Given the description of an element on the screen output the (x, y) to click on. 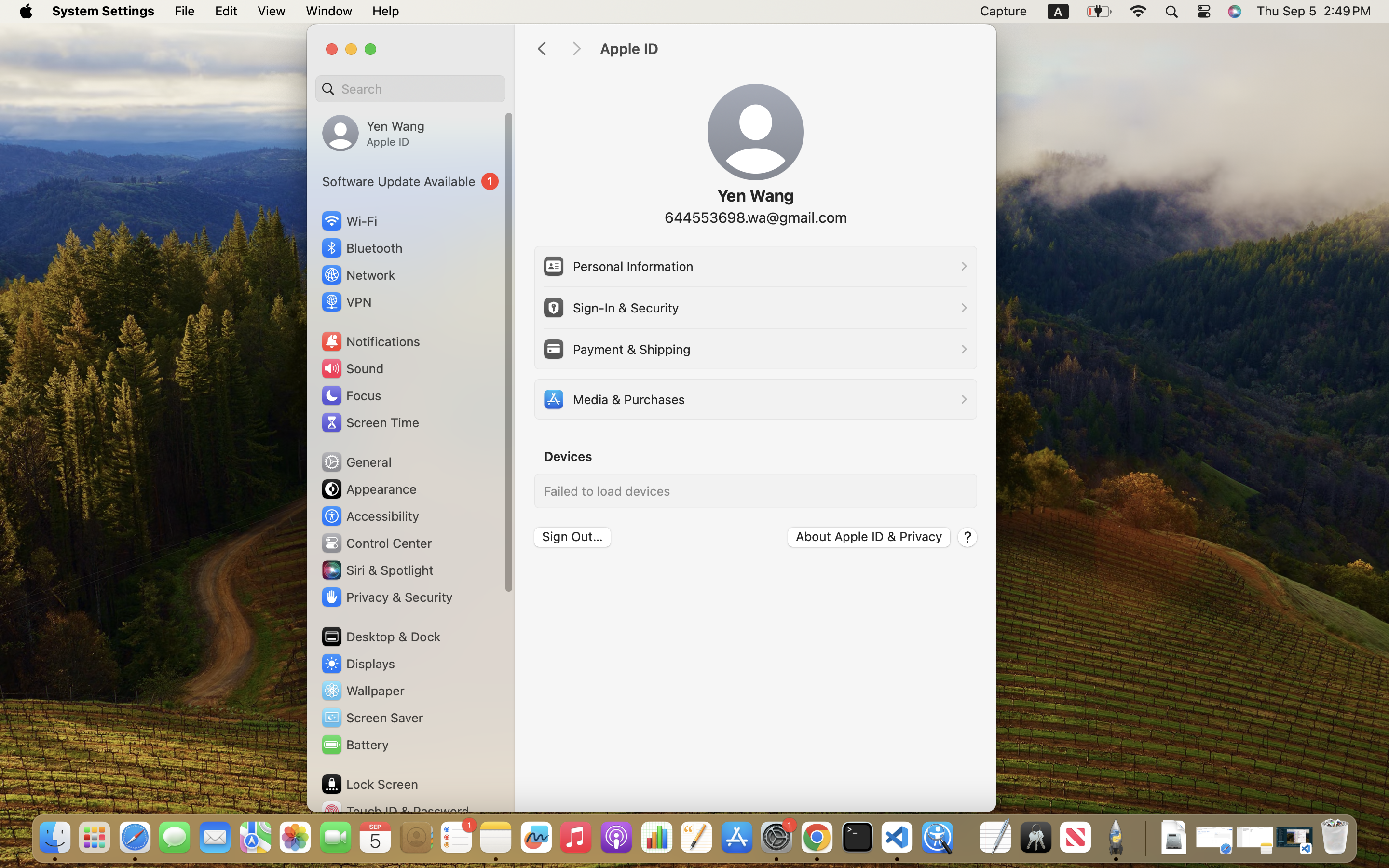
Battery Element type: AXStaticText (354, 744)
644553698.wa@gmail.com Element type: AXStaticText (754, 217)
Apple ID Element type: AXStaticText (788, 49)
Appearance Element type: AXStaticText (368, 488)
Sound Element type: AXStaticText (351, 367)
